Given the description of an element on the screen output the (x, y) to click on. 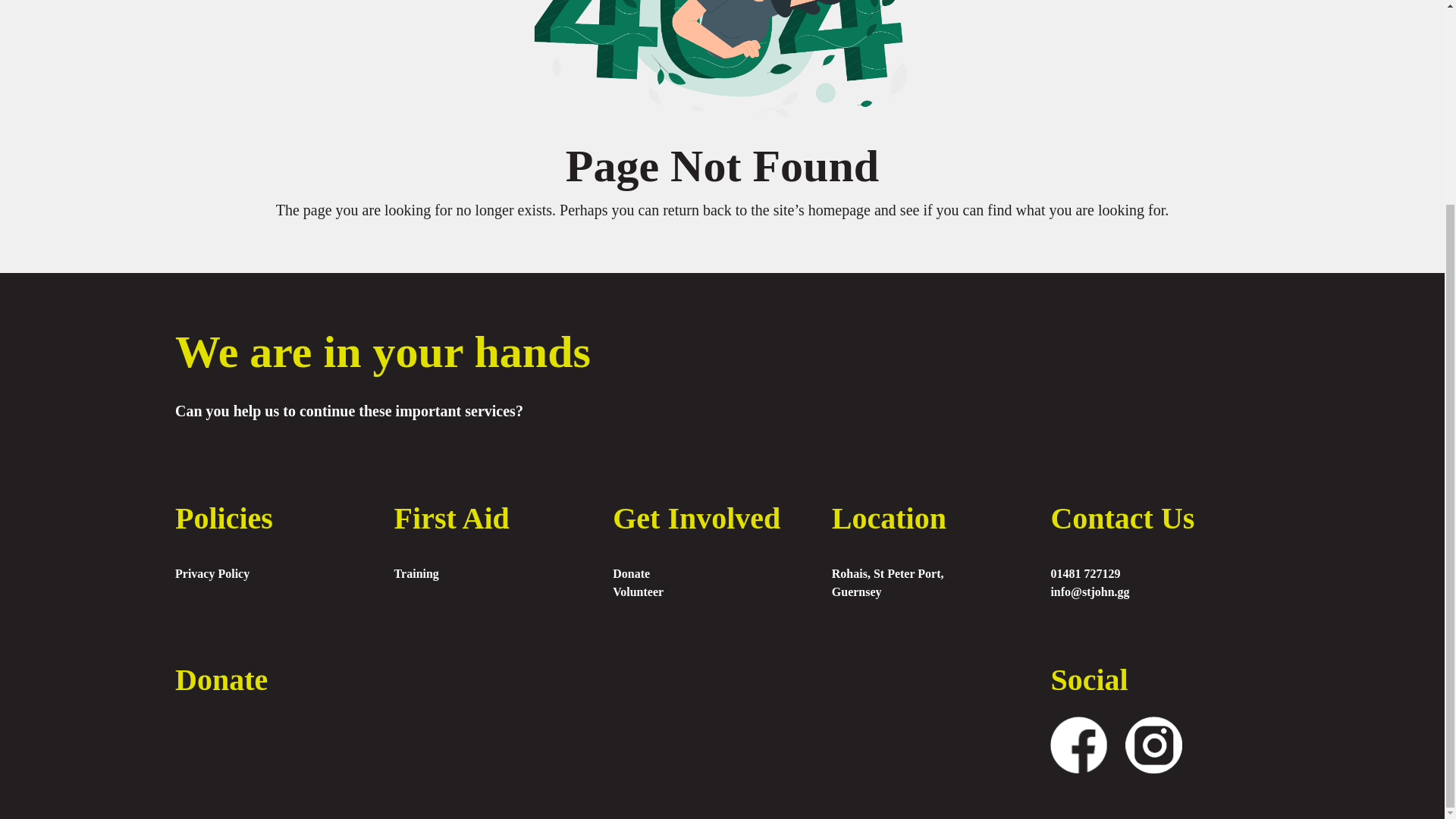
Volunteer (721, 592)
01481 727129 (1159, 574)
Training (503, 574)
Privacy Policy (284, 574)
Donate (220, 679)
Donate (721, 574)
